Given the description of an element on the screen output the (x, y) to click on. 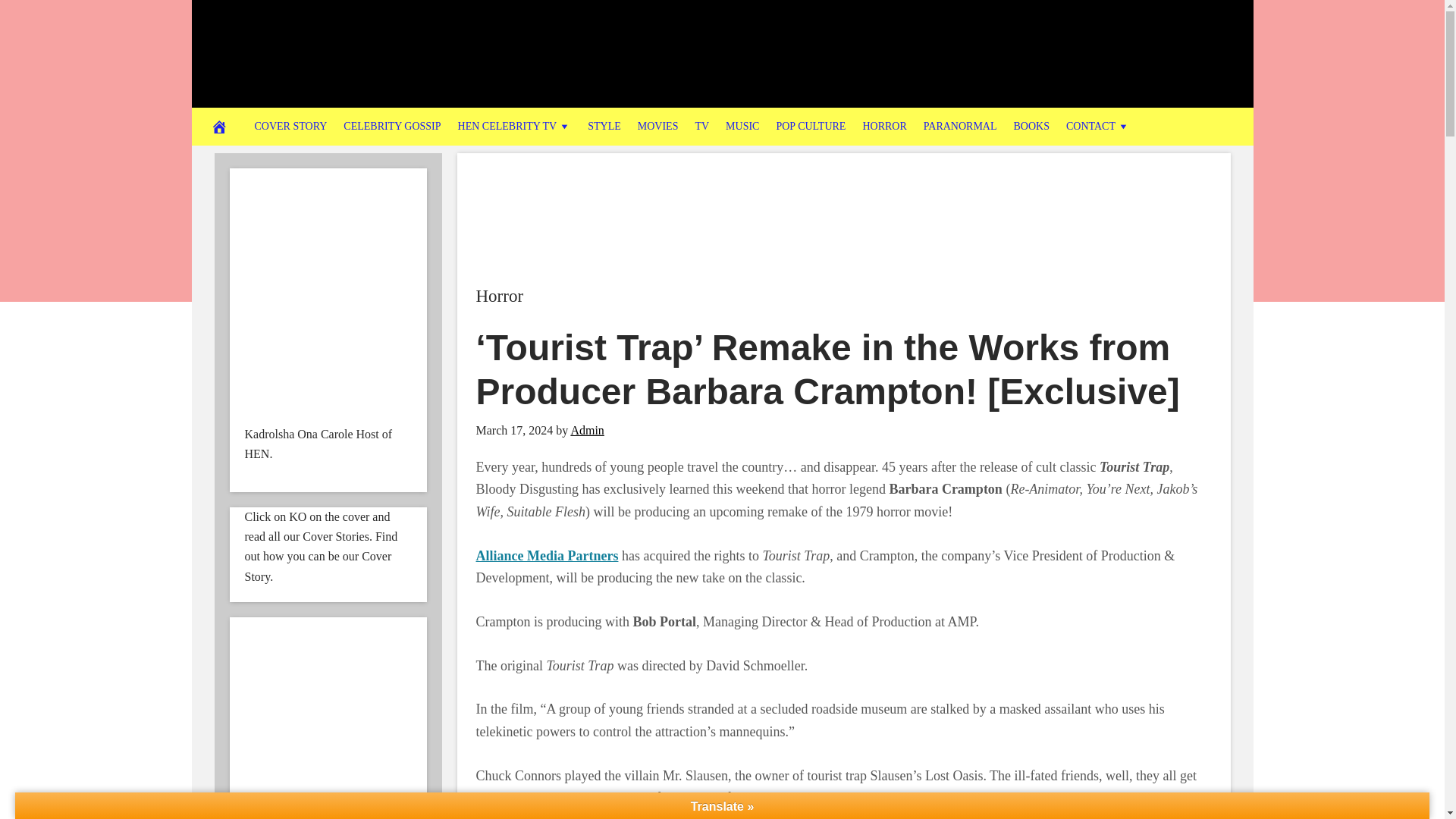
MOVIES (657, 126)
Horror (500, 295)
CELEBRITY GOSSIP (391, 126)
COVER STORY (290, 126)
HEN CELEBRITY TV (514, 126)
STYLE (603, 126)
